Given the description of an element on the screen output the (x, y) to click on. 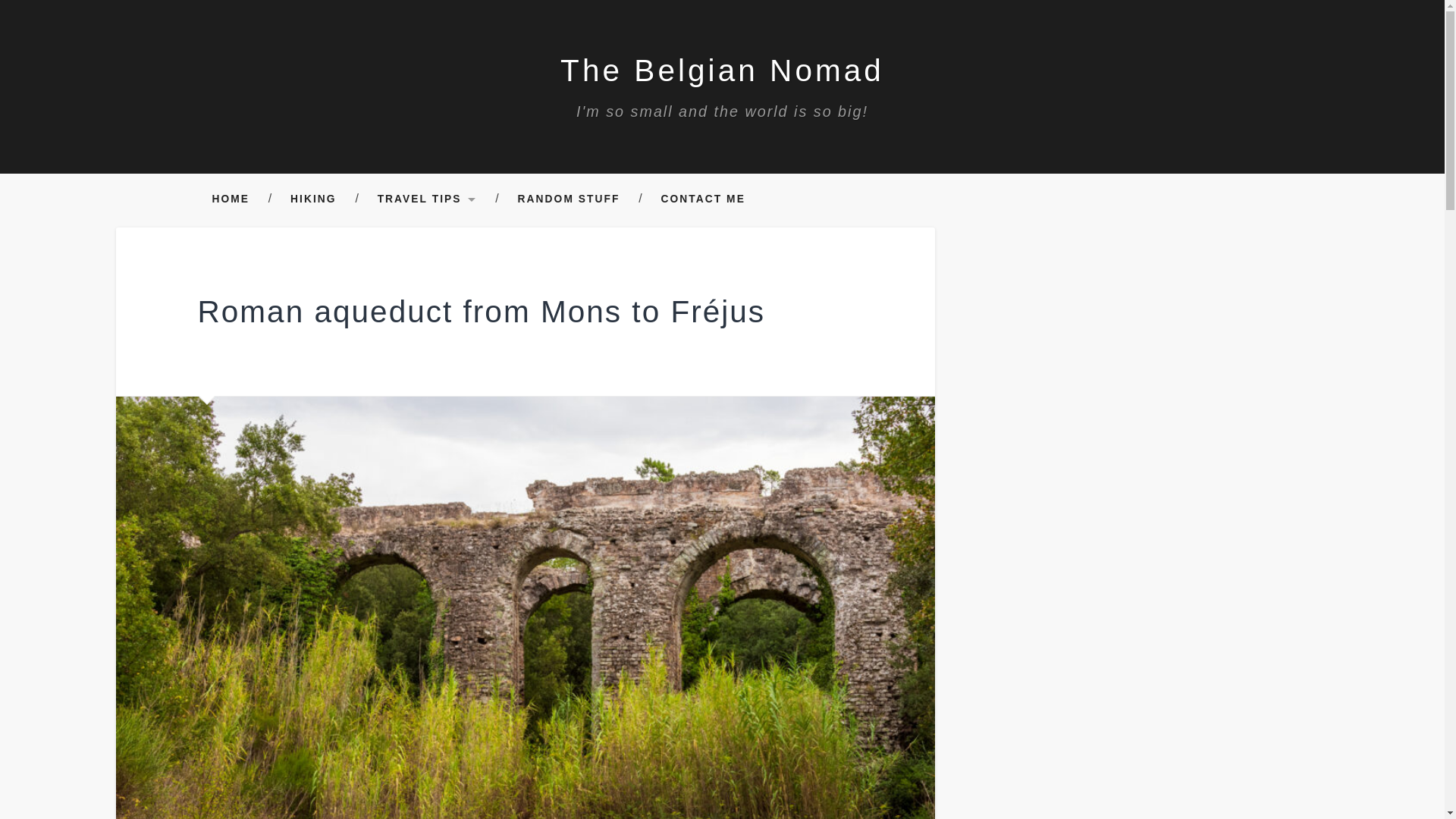
CONTACT ME (702, 199)
The Belgian Nomad (721, 70)
TRAVEL TIPS (426, 199)
RANDOM STUFF (568, 199)
HIKING (312, 199)
HOME (229, 199)
